Given the description of an element on the screen output the (x, y) to click on. 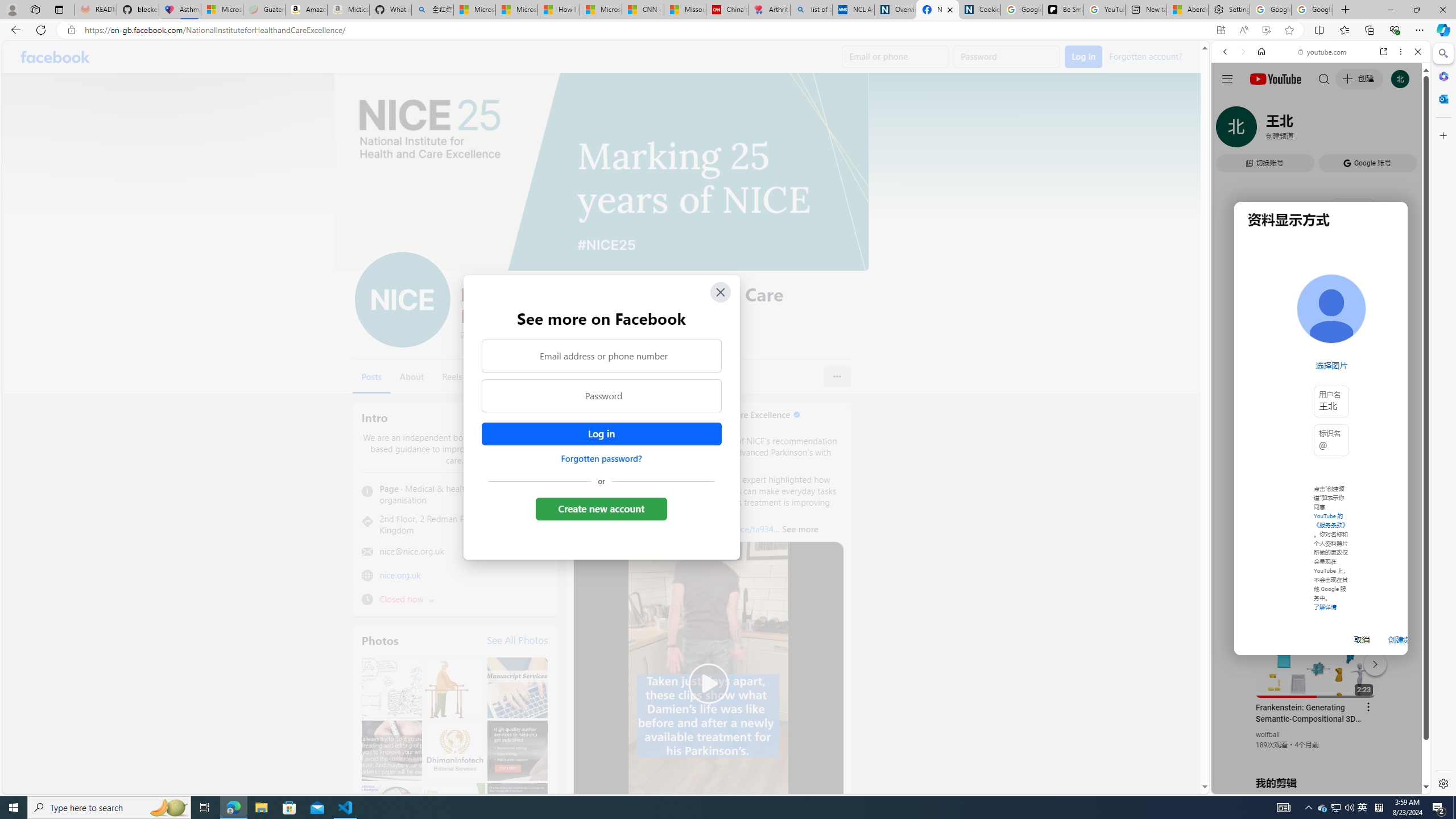
CNN - MSN (642, 9)
Cookies (979, 9)
